Given the description of an element on the screen output the (x, y) to click on. 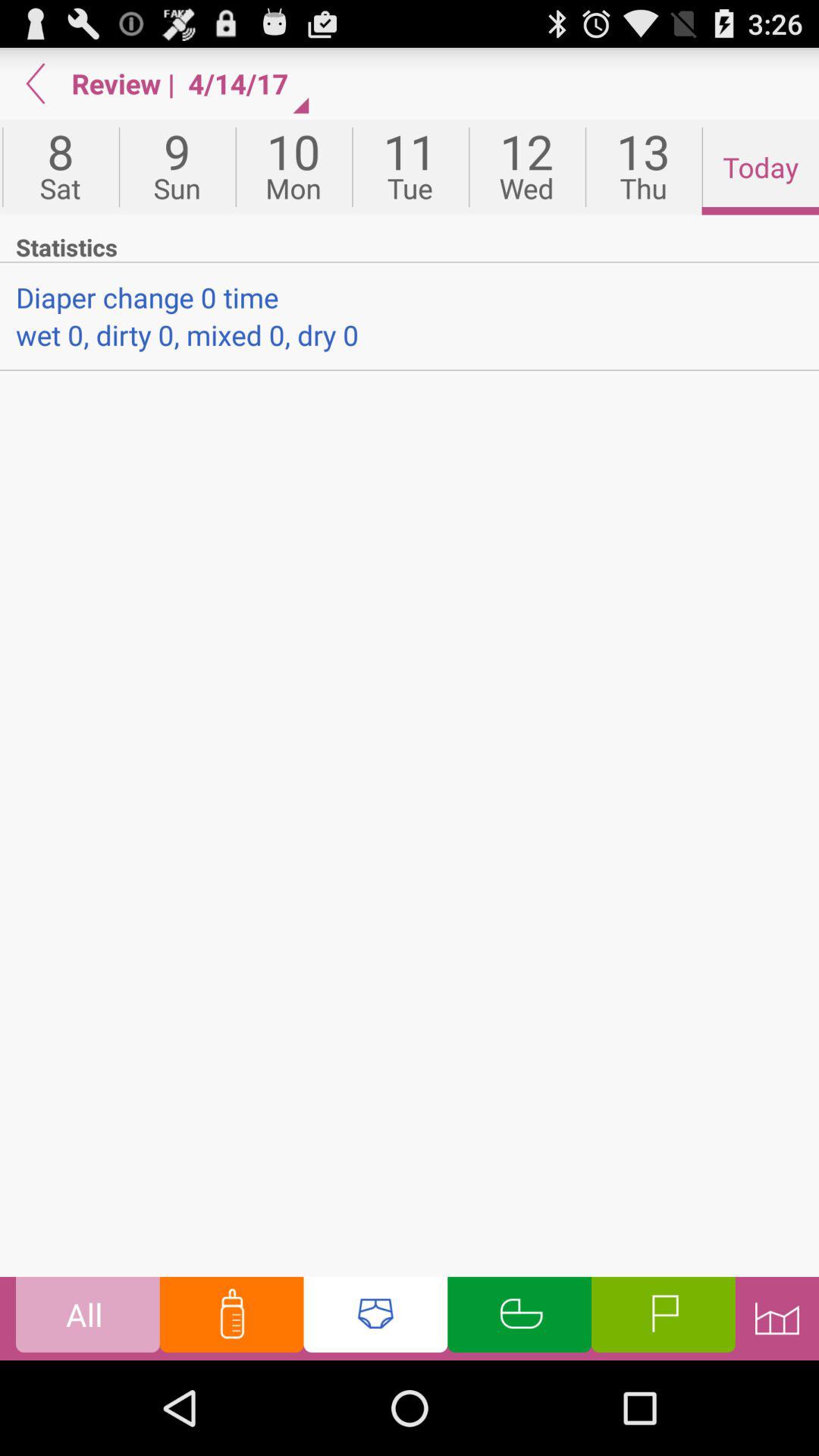
go to back (35, 83)
